Given the description of an element on the screen output the (x, y) to click on. 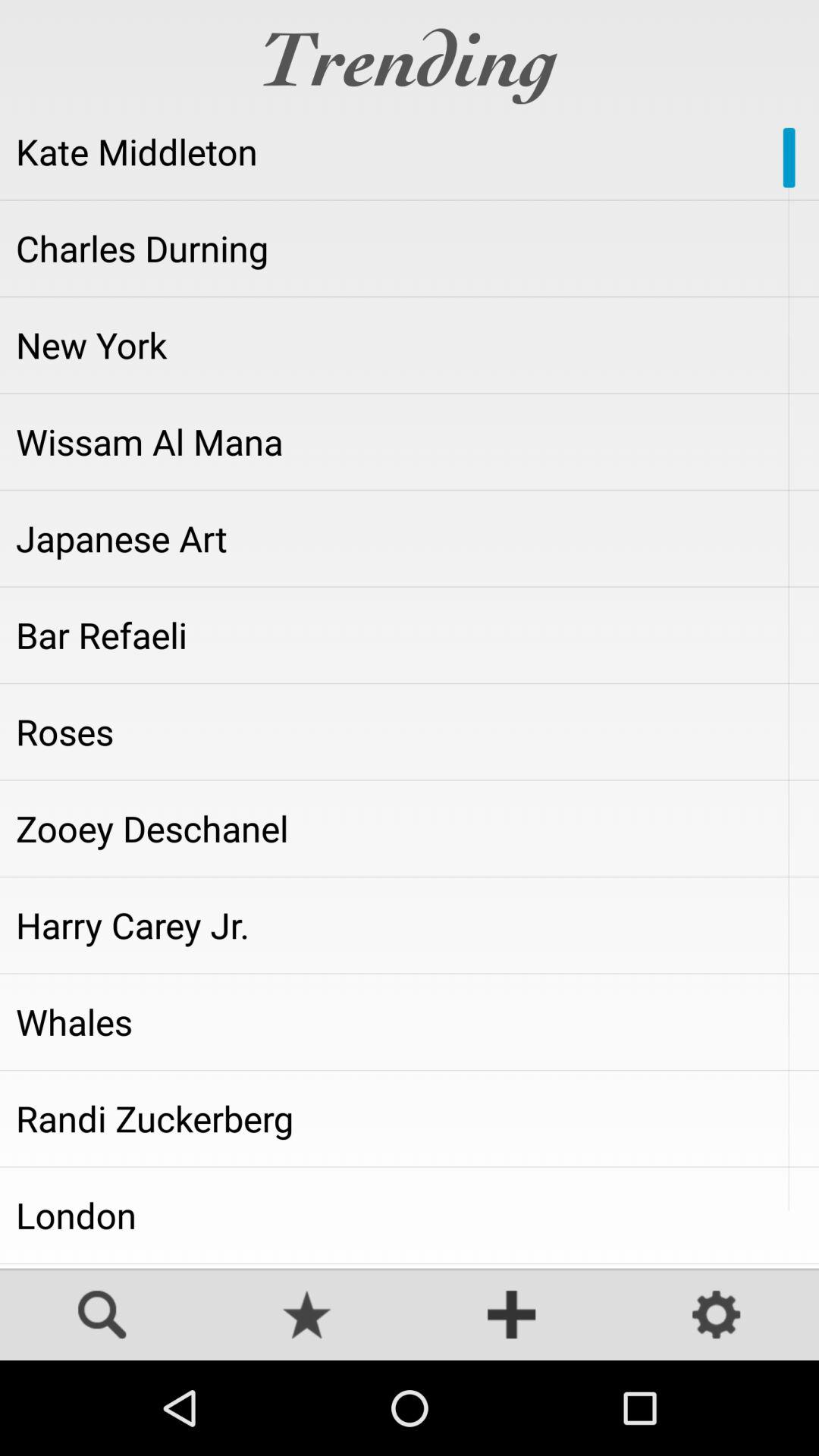
adicionar novo papel de parede (511, 1316)
